Given the description of an element on the screen output the (x, y) to click on. 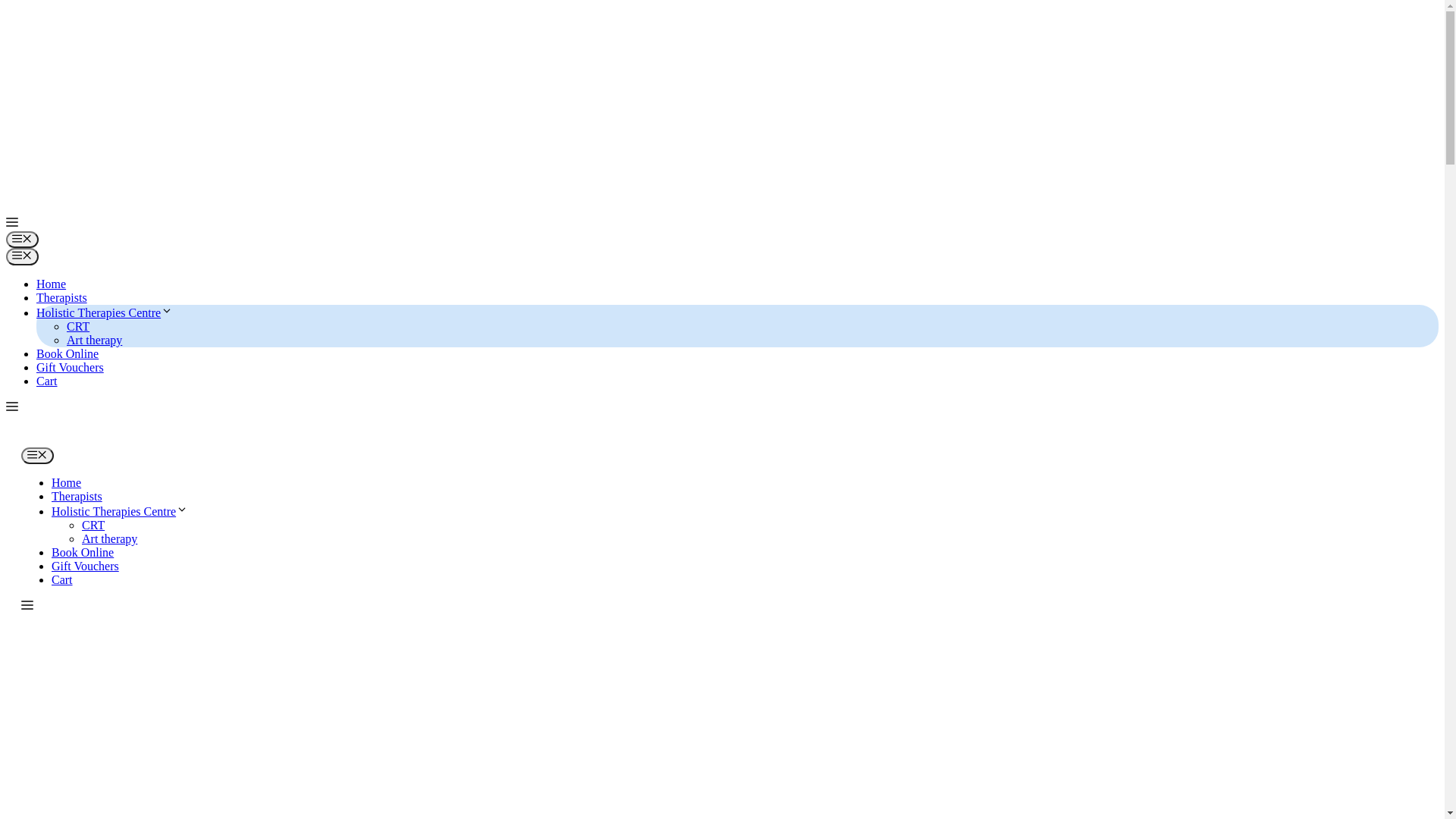
Holistic Therapies Centre Element type: text (104, 312)
Home Element type: text (66, 482)
CRT Element type: text (77, 326)
Holistic Therapies Centre Element type: text (119, 511)
Art therapy Element type: text (109, 538)
Gift Vouchers Element type: text (85, 565)
Therapists Element type: text (61, 297)
Cart Element type: text (46, 380)
CRT Element type: text (92, 524)
Skip to content Element type: text (5, 5)
Home Element type: text (50, 283)
Book Online Element type: text (82, 552)
Book Online Element type: text (67, 353)
Menu Element type: text (22, 255)
Therapists Element type: text (76, 495)
Art therapy Element type: text (94, 339)
Gift Vouchers Element type: text (69, 366)
Menu Element type: text (22, 239)
Cart Element type: text (61, 579)
Holistic Element type: hover (35, 439)
Menu Element type: text (37, 455)
